Given the description of an element on the screen output the (x, y) to click on. 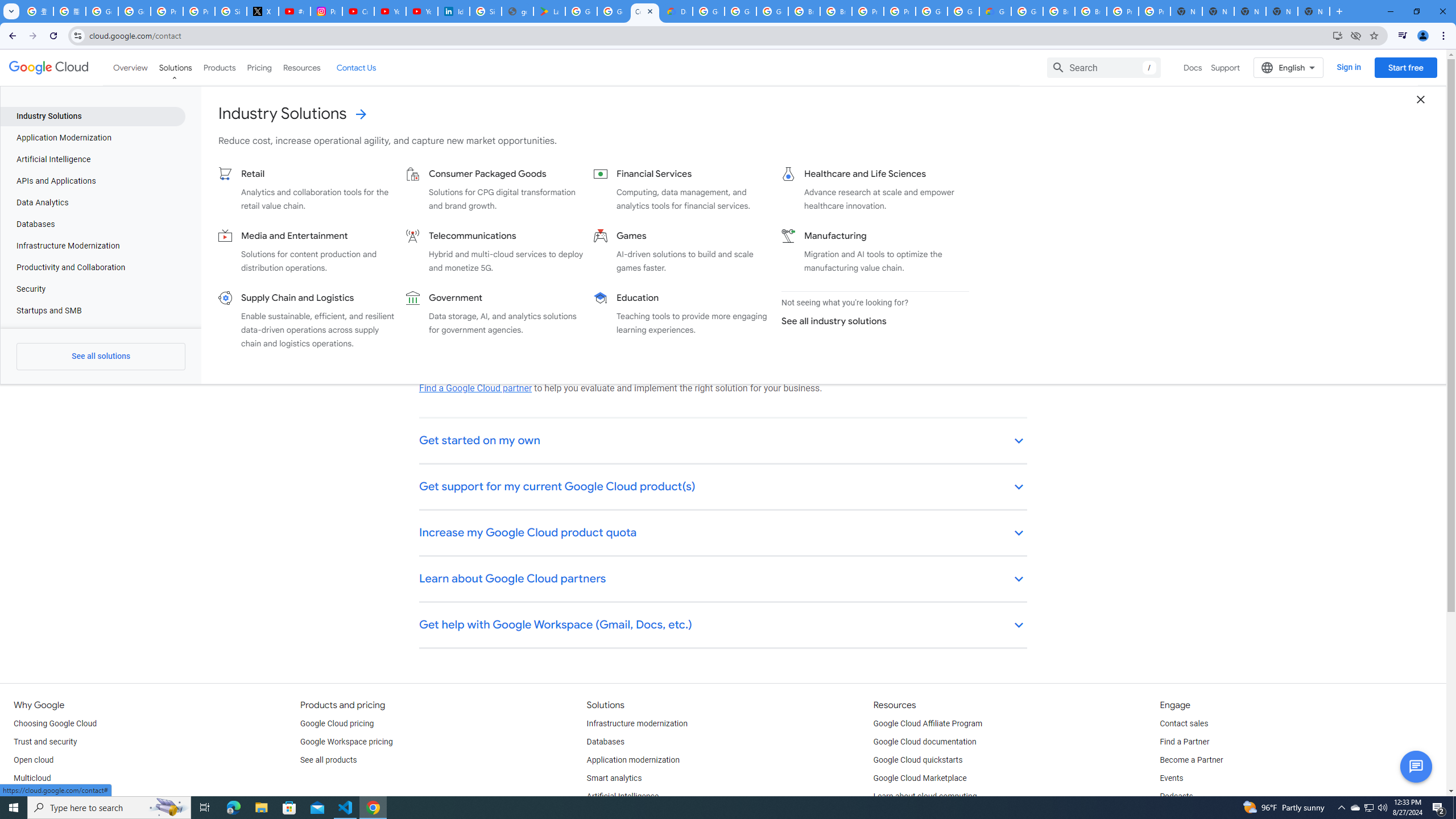
Security (92, 289)
APIs and Applications (92, 180)
Artificial Intelligence (622, 796)
Data Analytics (92, 202)
Google Cloud Affiliate Program (927, 723)
Solutions (175, 67)
Learn about Google Cloud partners keyboard_arrow_down (723, 579)
